Given the description of an element on the screen output the (x, y) to click on. 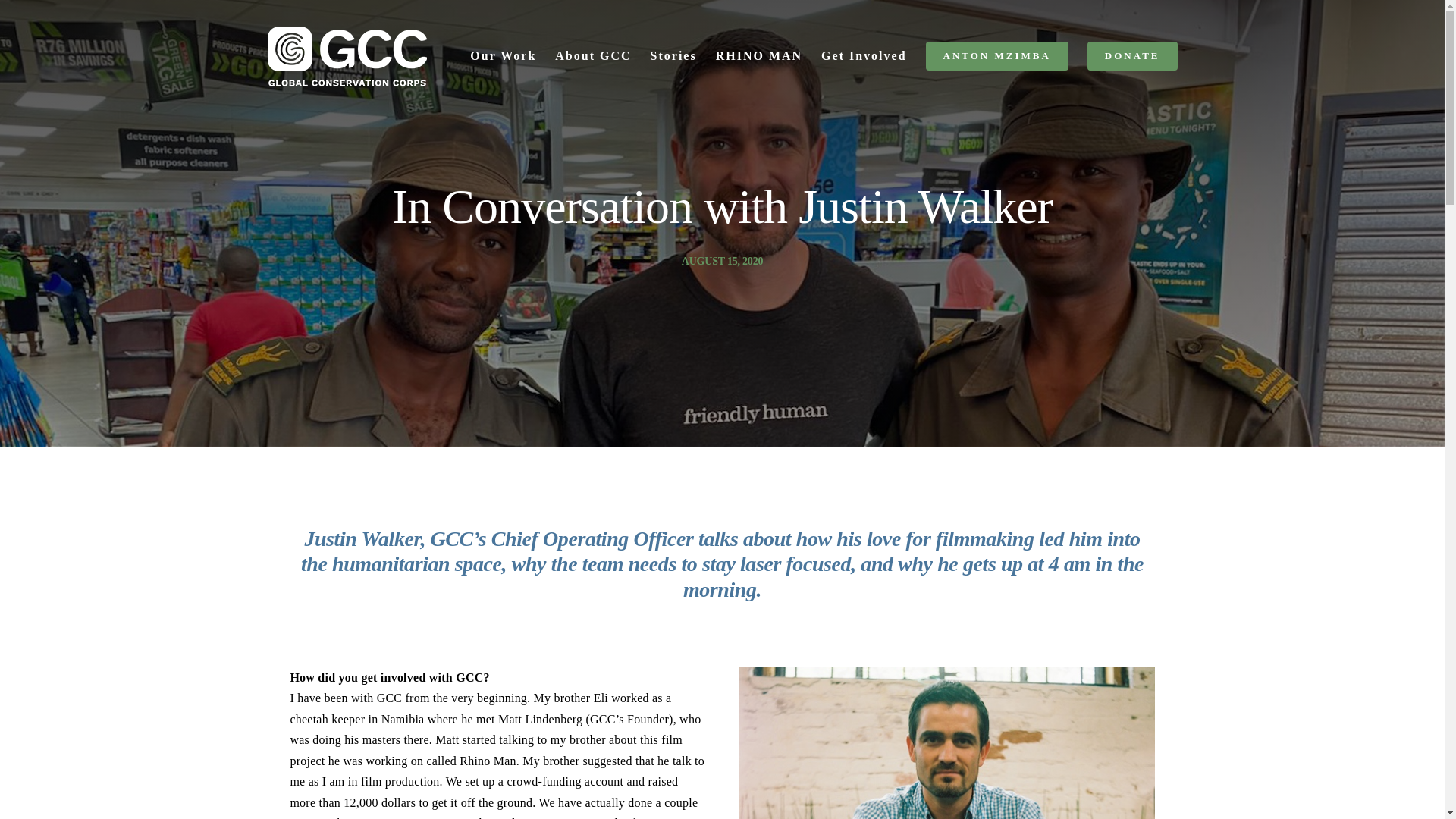
ANTON MZIMBA (997, 54)
Justin Walker Board Picture (946, 743)
